Given the description of an element on the screen output the (x, y) to click on. 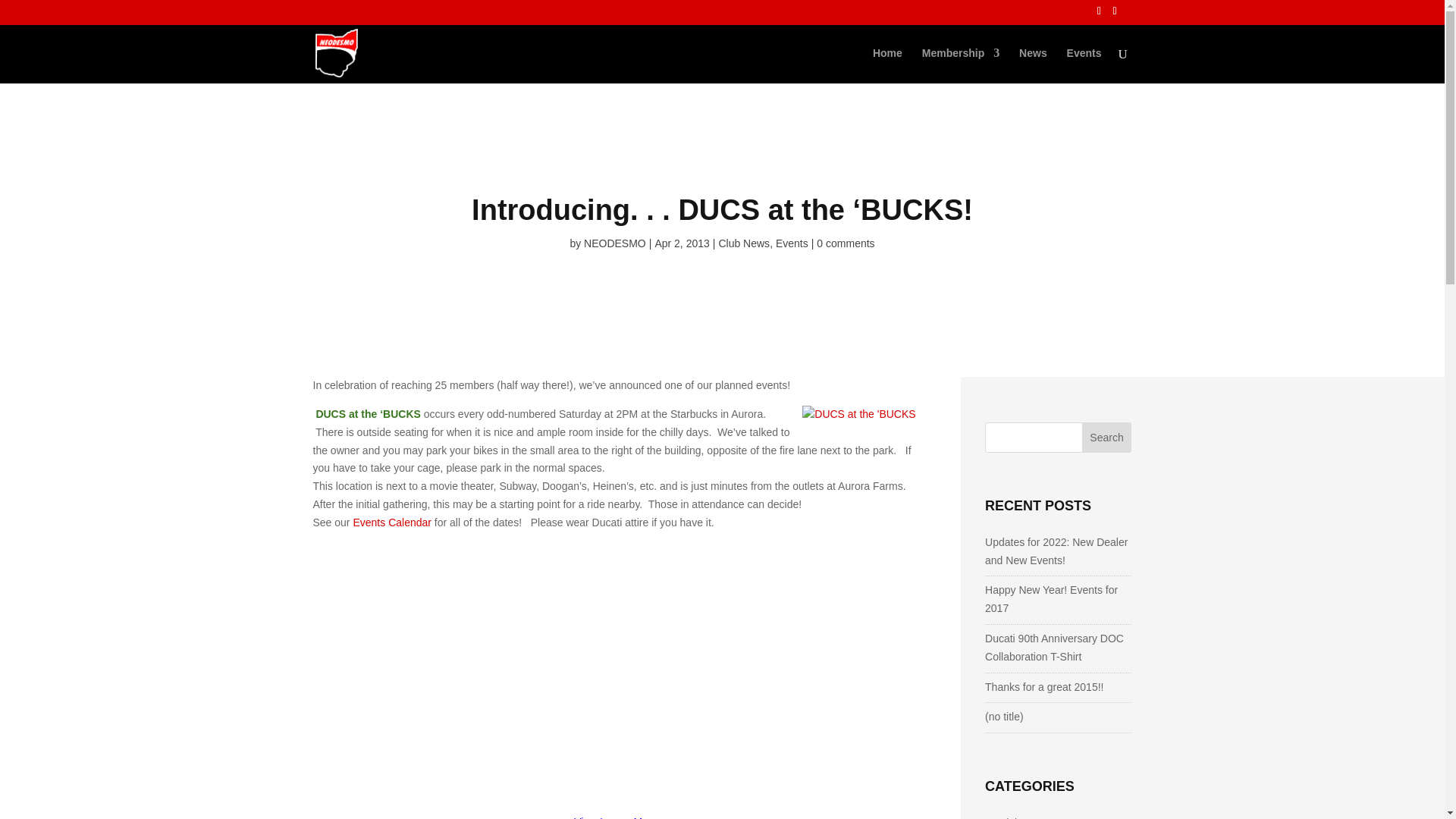
Events (792, 243)
Posts by NEODESMO (614, 243)
Events (1084, 65)
here (468, 15)
0 comments (845, 243)
Club Gear (1015, 816)
Events Calendar (391, 522)
Membership (959, 65)
Happy New Year! Events for 2017 (1051, 598)
Ducati 90th Anniversary DOC Collaboration T-Shirt (1054, 647)
